Given the description of an element on the screen output the (x, y) to click on. 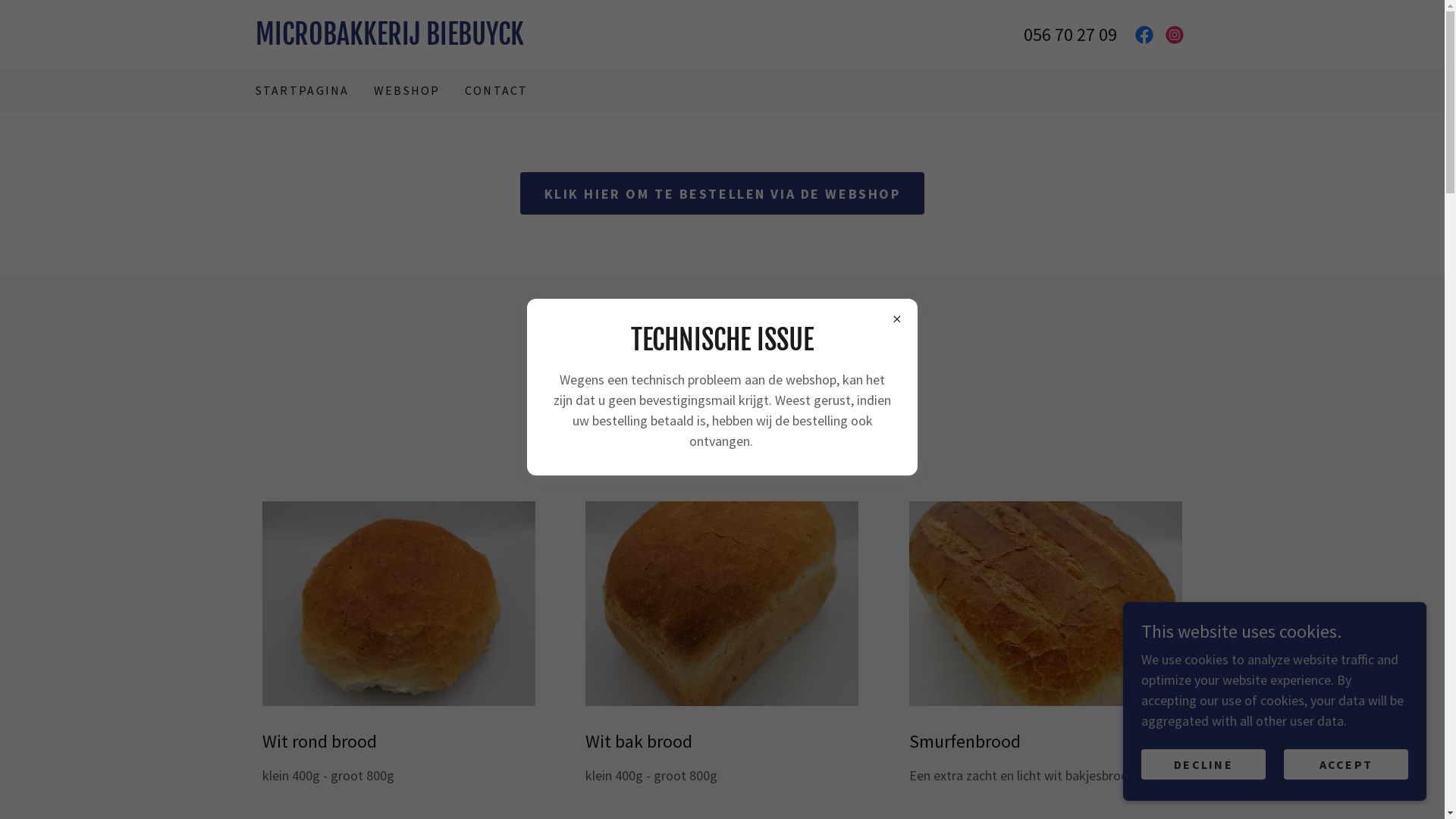
KLIK HIER OM TE BESTELLEN VIA DE WEBSHOP Element type: text (722, 193)
MICROBAKKERIJ BIEBUYCK Element type: text (487, 39)
ACCEPT Element type: text (1345, 764)
CONTACT Element type: text (496, 89)
056 70 27 09 Element type: text (1070, 34)
WEBSHOP Element type: text (407, 89)
DECLINE Element type: text (1203, 764)
STARTPAGINA Element type: text (301, 89)
